Given the description of an element on the screen output the (x, y) to click on. 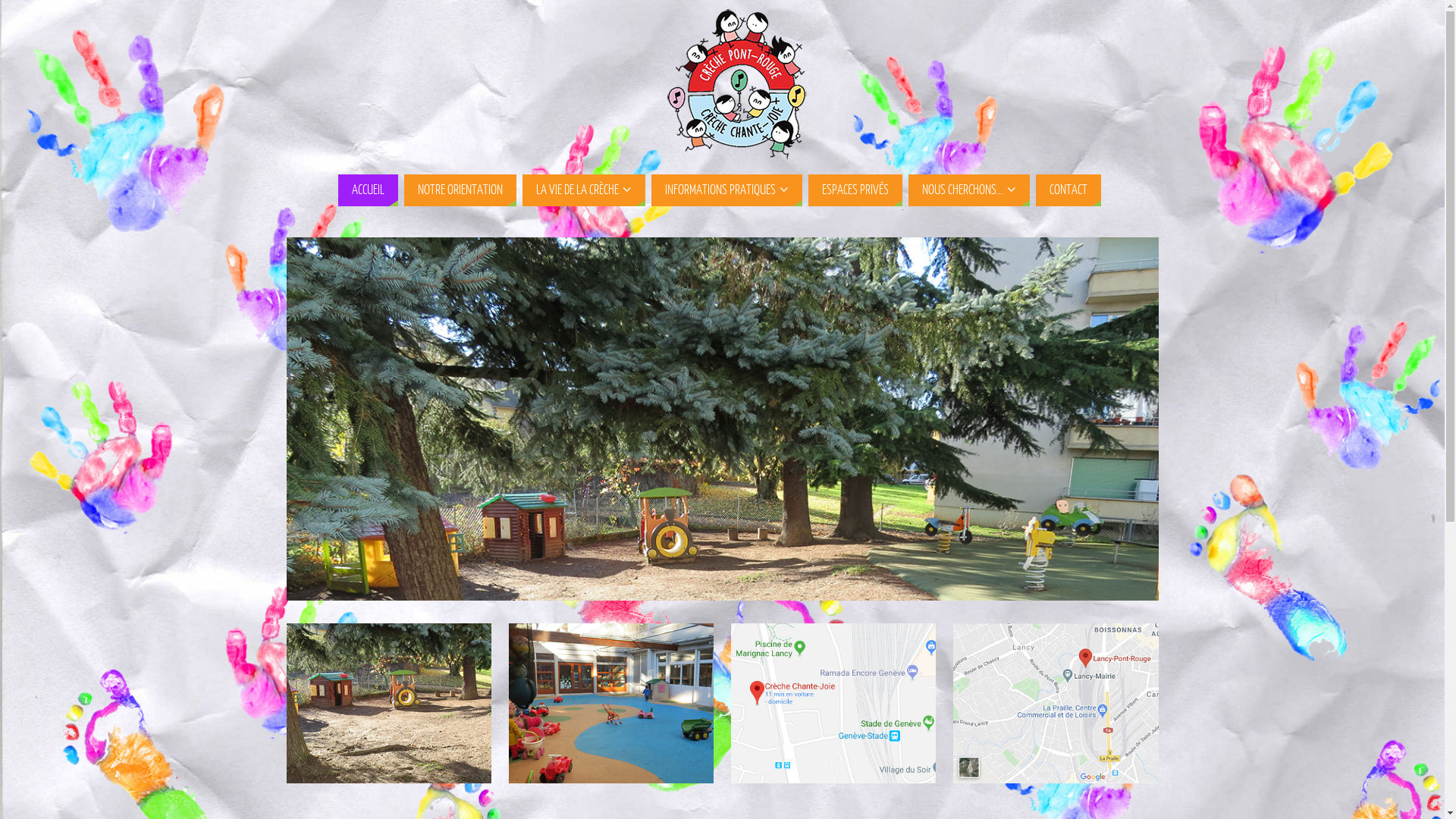
Contact Chante-Joie Element type: text (833, 703)
ACCUEIL Element type: text (368, 190)
Contact Pont-Rouge Element type: text (1055, 703)
Notre orientation Element type: text (388, 703)
Inscription & Liens utiles Element type: text (610, 703)
NOTRE ORIENTATION Element type: text (459, 190)
INFORMATIONS PRATIQUES Element type: text (725, 190)
CONTACT Element type: text (1068, 190)
